Given the description of an element on the screen output the (x, y) to click on. 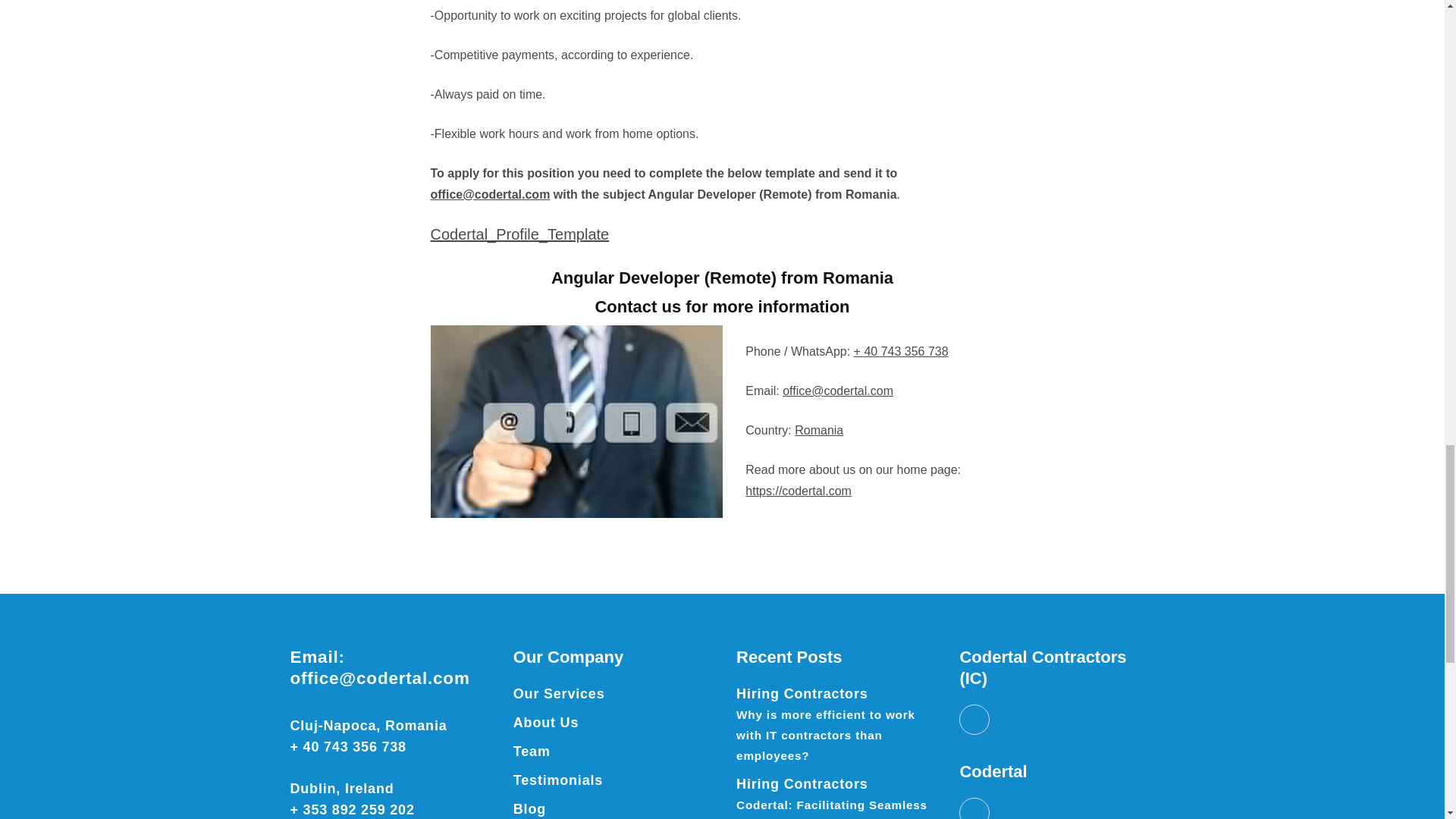
Management Team (531, 719)
About Us (545, 690)
Careers (541, 806)
Our Services (559, 661)
linkedin (974, 687)
linkedin (974, 780)
Testimonials (557, 748)
